Given the description of an element on the screen output the (x, y) to click on. 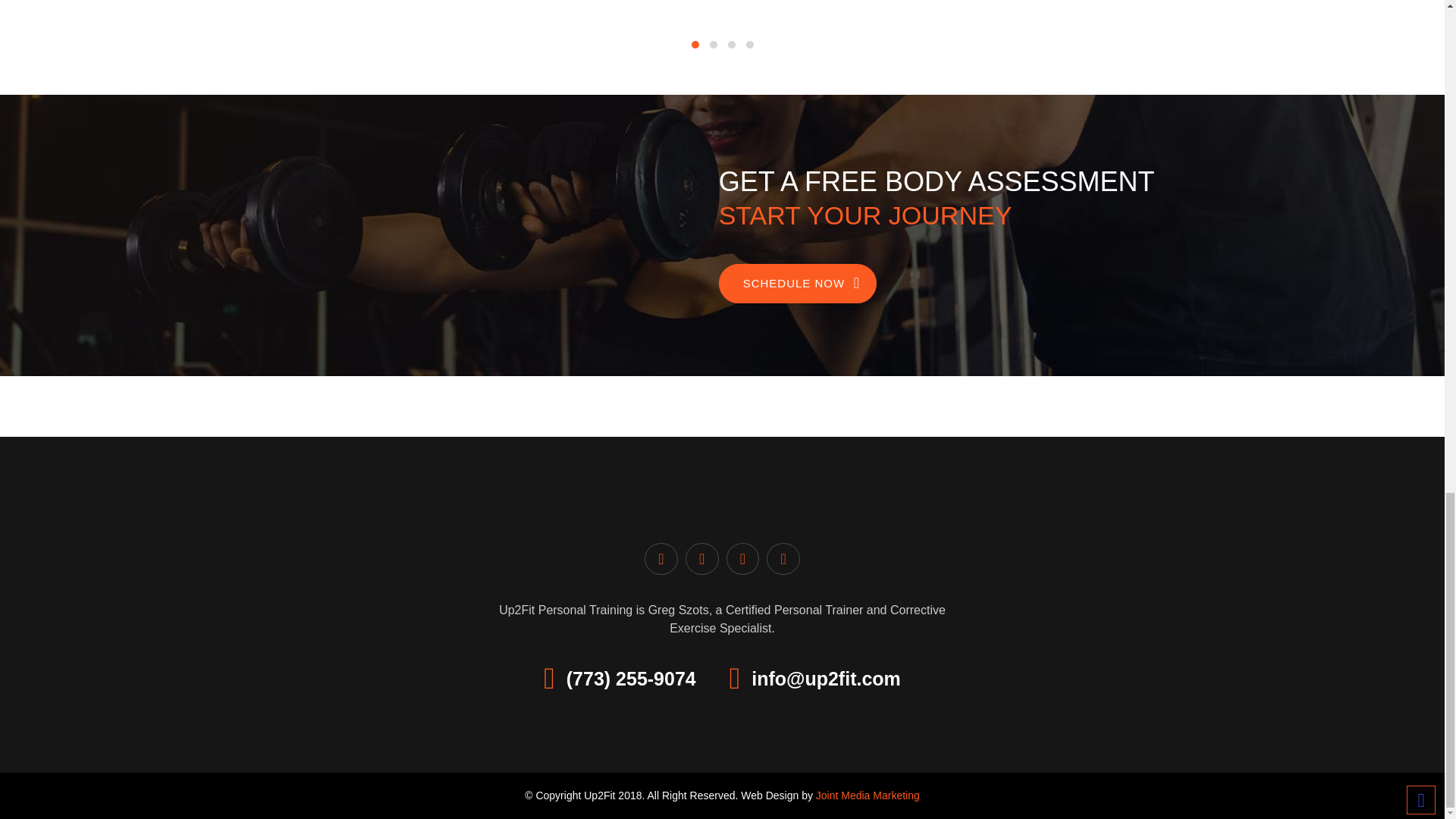
SCHEDULE NOW (798, 283)
Joint Media Marketing (867, 795)
